Given the description of an element on the screen output the (x, y) to click on. 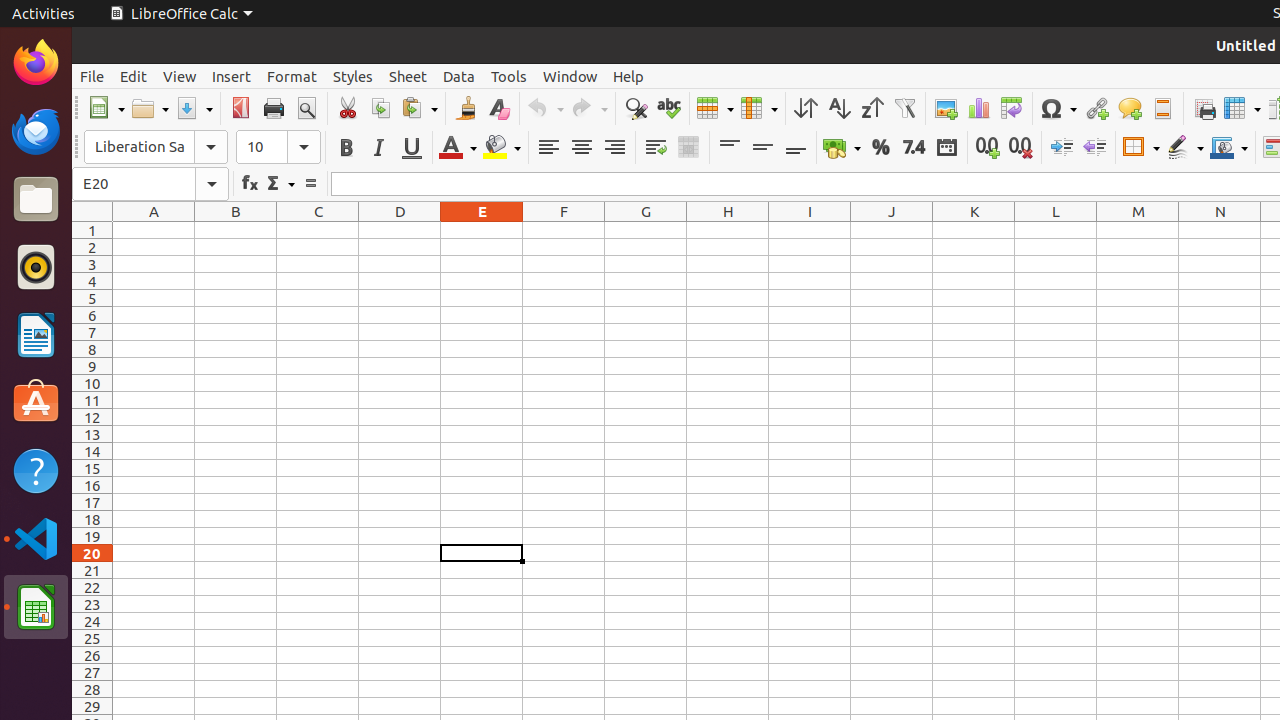
Copy Element type: push-button (380, 108)
Name Box Element type: combo-box (150, 184)
Sheet Element type: menu (408, 76)
Function Wizard Element type: push-button (249, 183)
Edit Element type: menu (133, 76)
